Given the description of an element on the screen output the (x, y) to click on. 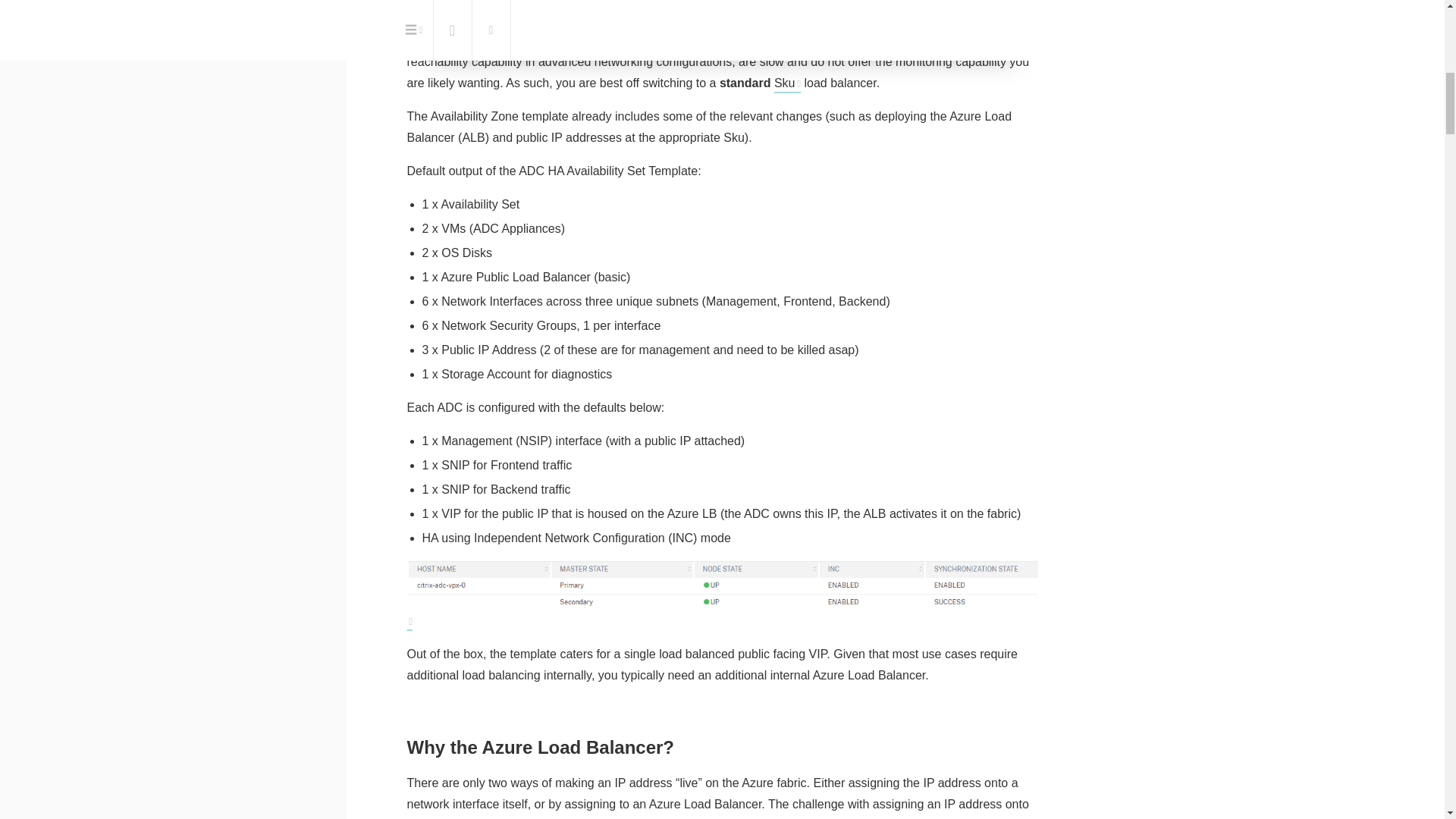
Sku (454, 40)
Sku (787, 82)
